Given the description of an element on the screen output the (x, y) to click on. 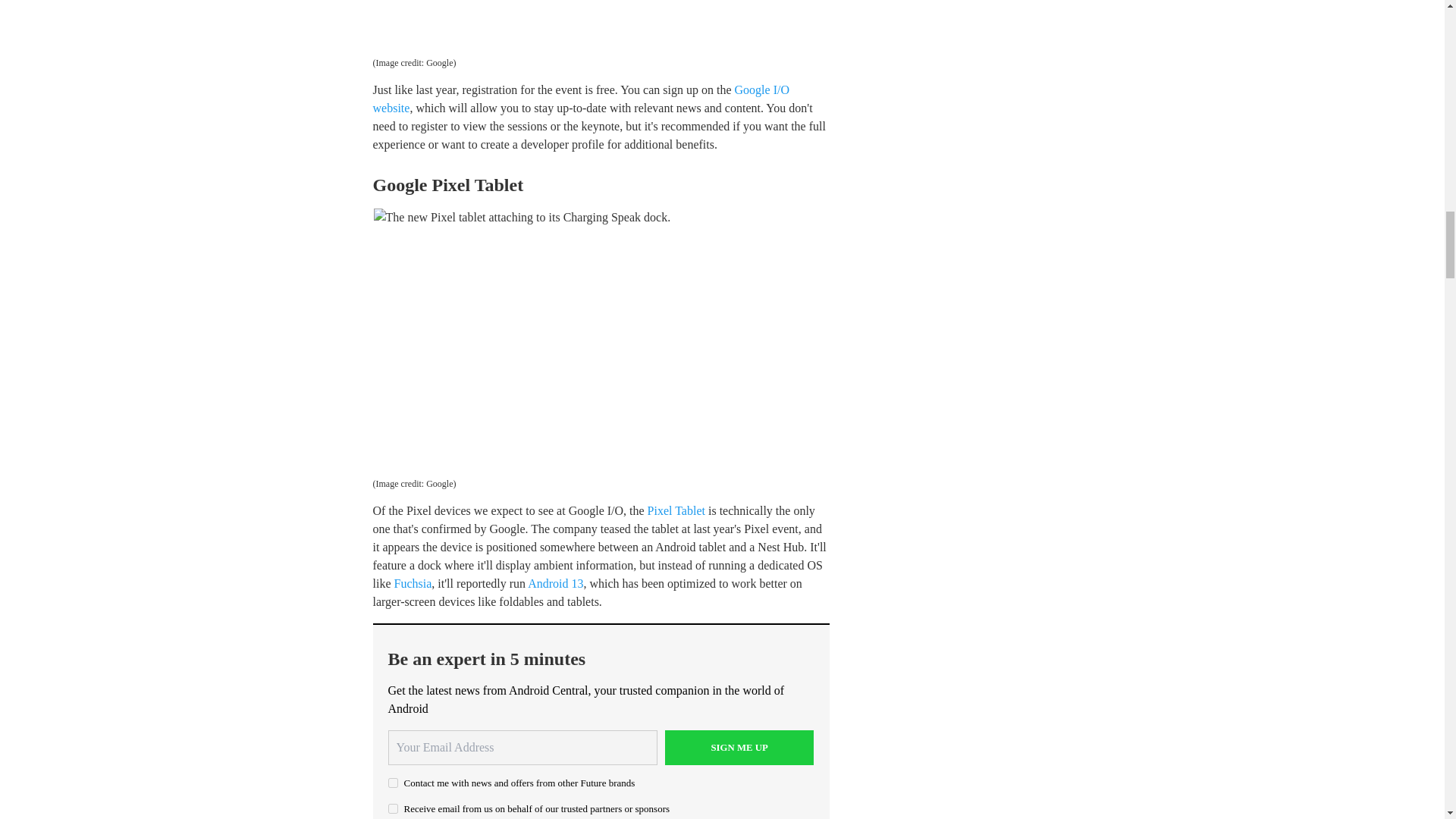
on (392, 808)
Sign me up (739, 747)
on (392, 782)
